Given the description of an element on the screen output the (x, y) to click on. 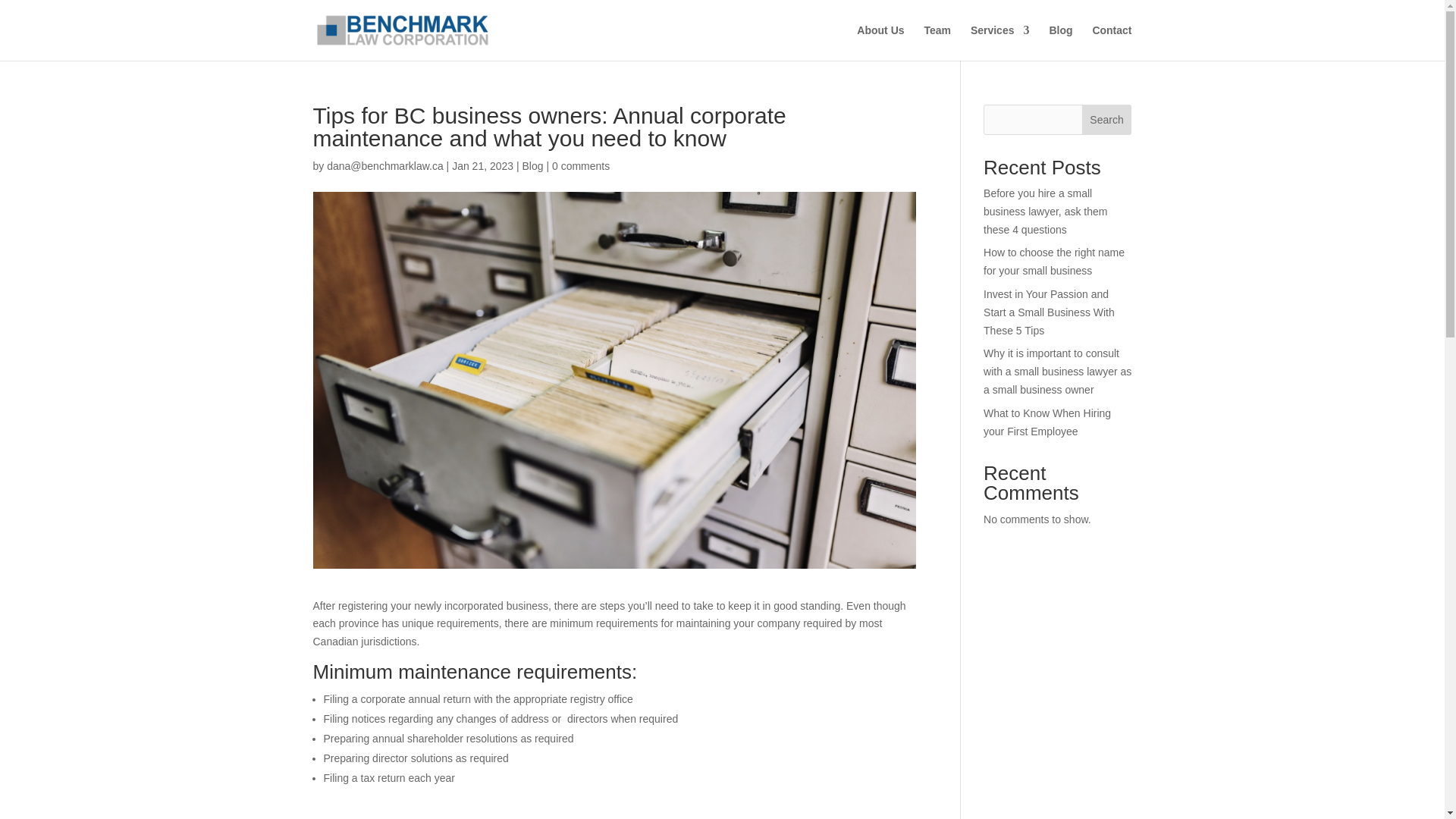
What to Know When Hiring your First Employee (1047, 422)
About Us (880, 42)
0 comments (580, 165)
Services (1000, 42)
Search (1106, 119)
Contact (1111, 42)
How to choose the right name for your small business (1054, 261)
Blog (532, 165)
